Given the description of an element on the screen output the (x, y) to click on. 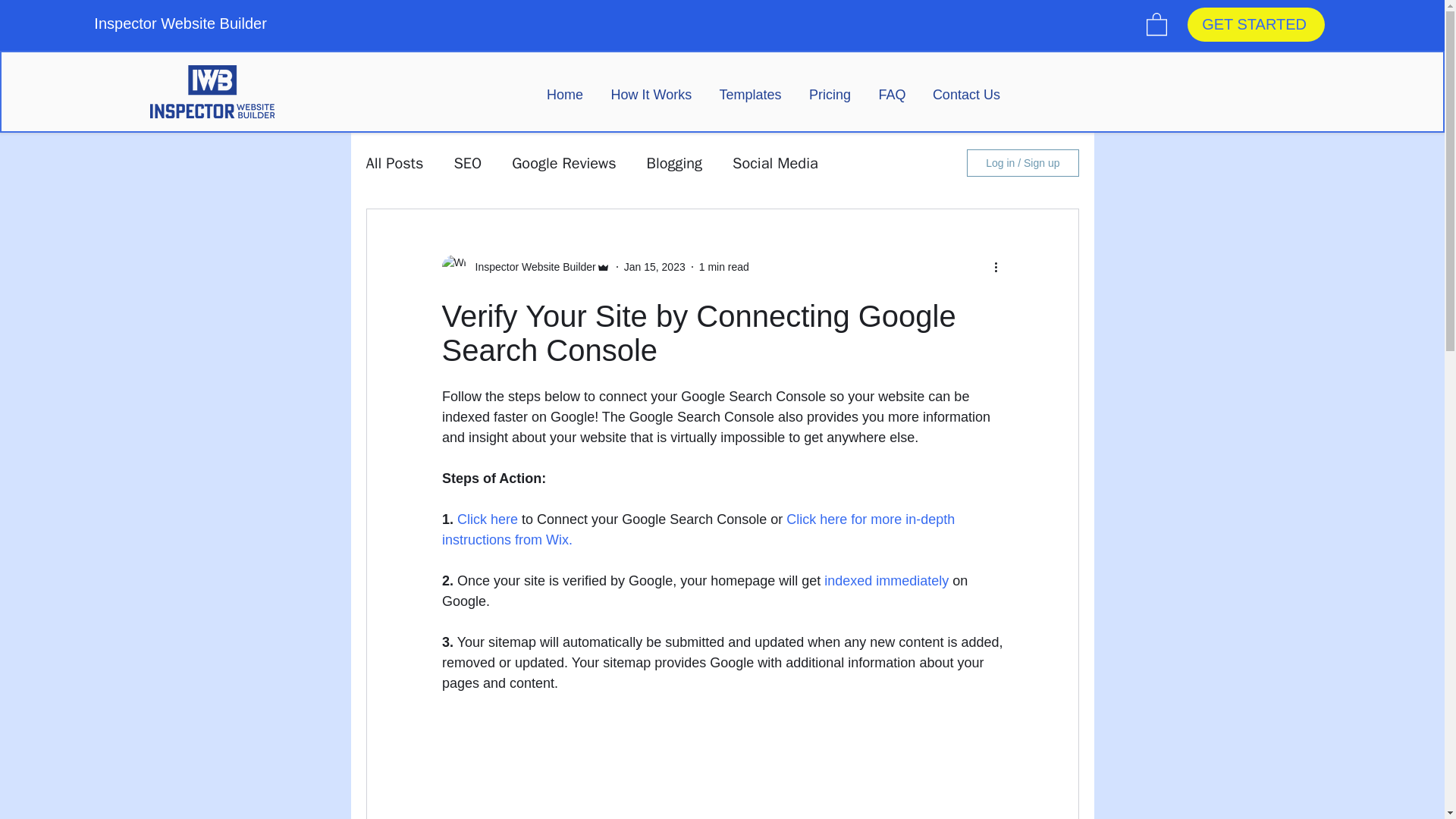
Home (564, 94)
Templates (749, 94)
Social Media (775, 163)
All Posts (394, 163)
Inspector Website Builder (530, 267)
Pricing (829, 94)
Contact Us (966, 94)
Google Reviews (563, 163)
Blogging (674, 163)
GET STARTED (1256, 24)
